Given the description of an element on the screen output the (x, y) to click on. 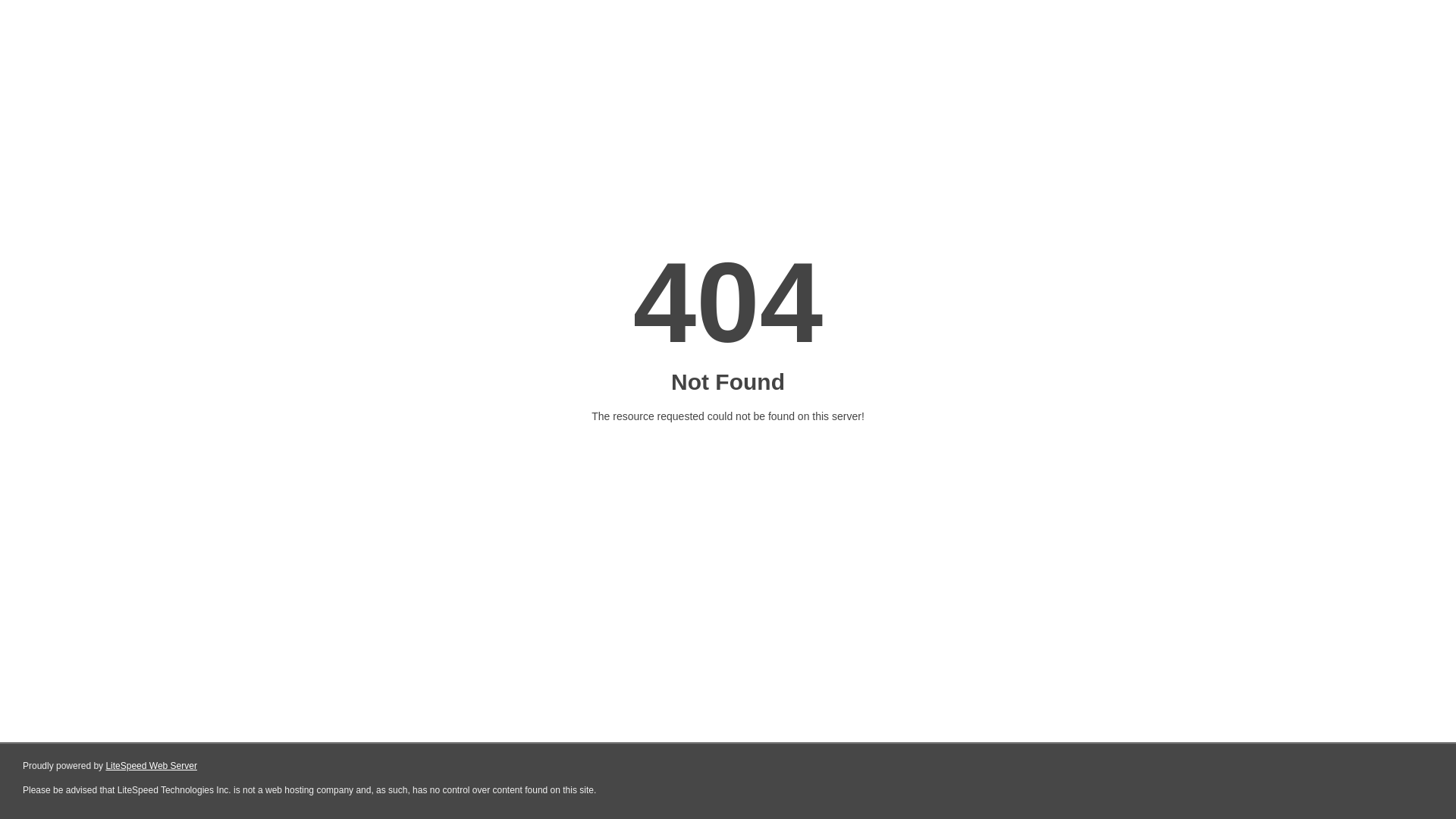
LiteSpeed Web Server Element type: text (151, 765)
